Given the description of an element on the screen output the (x, y) to click on. 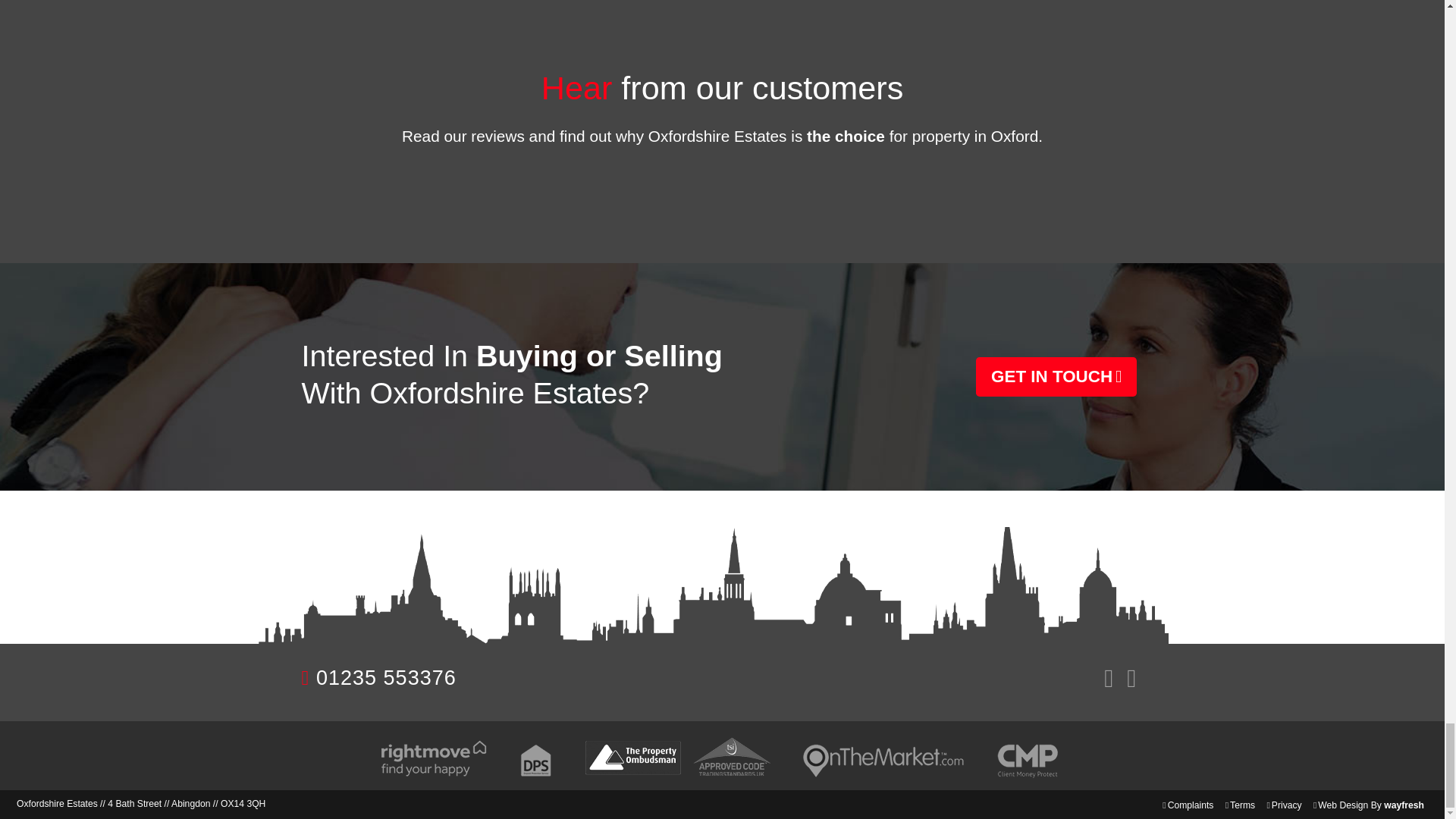
GET IN TOUCH (1056, 376)
Complaints (1190, 805)
Terms (1242, 805)
01235 553376 (386, 677)
Privacy (1286, 805)
